Given the description of an element on the screen output the (x, y) to click on. 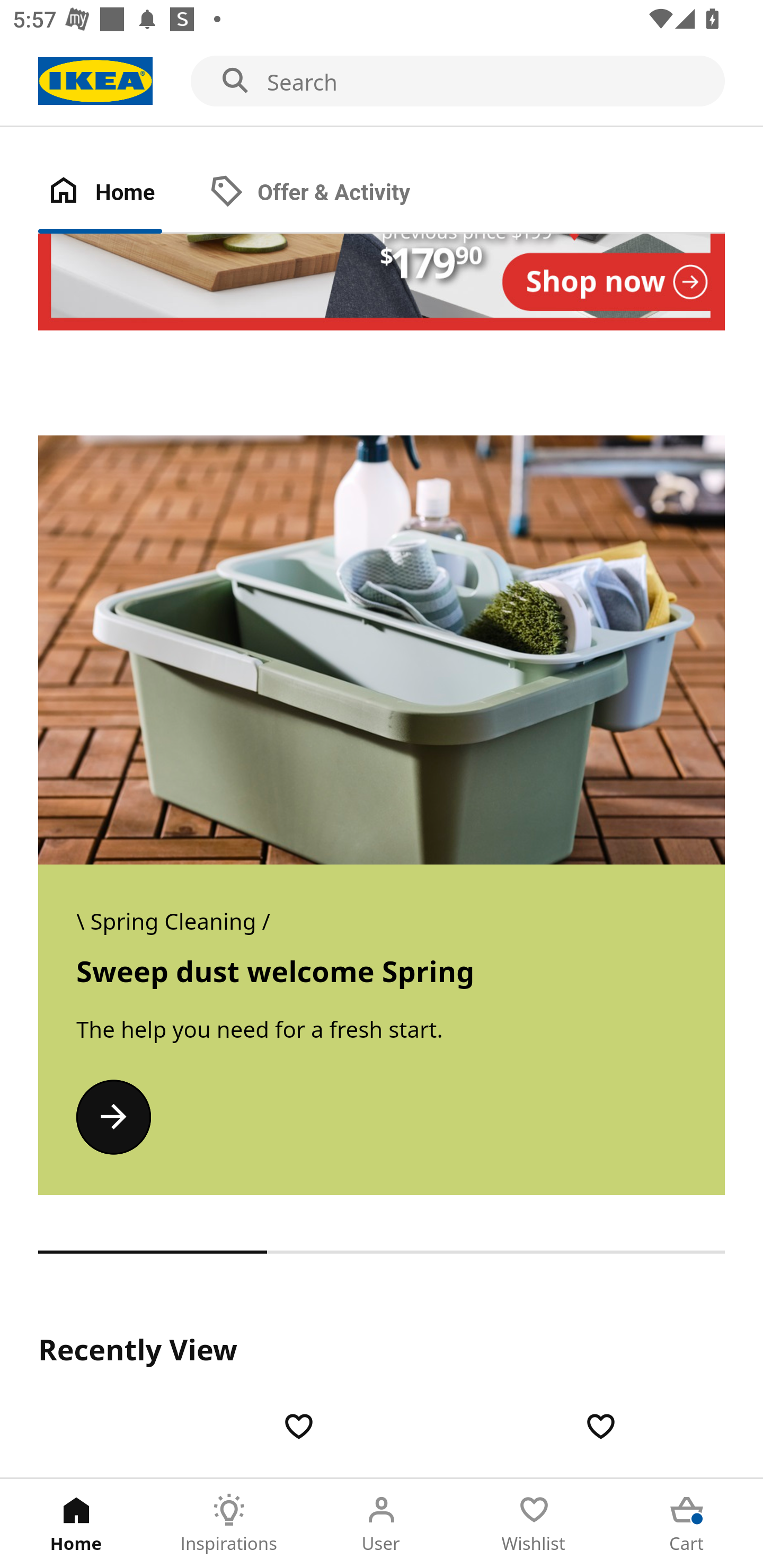
Search (381, 81)
Home
Tab 1 of 2 (118, 192)
Offer & Activity
Tab 2 of 2 (327, 192)
Home
Tab 1 of 5 (76, 1522)
Inspirations
Tab 2 of 5 (228, 1522)
User
Tab 3 of 5 (381, 1522)
Wishlist
Tab 4 of 5 (533, 1522)
Cart
Tab 5 of 5 (686, 1522)
